Given the description of an element on the screen output the (x, y) to click on. 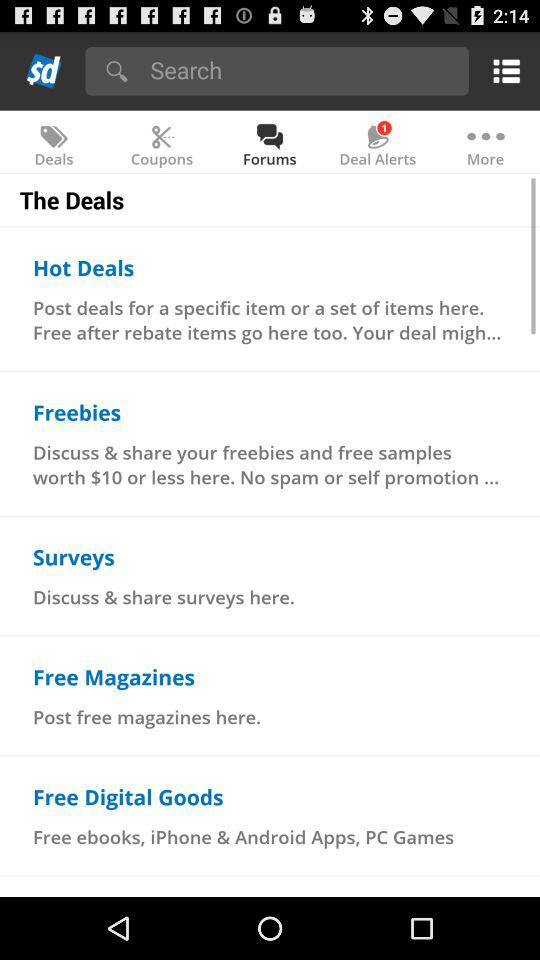
tap icon below the the deals item (83, 267)
